Given the description of an element on the screen output the (x, y) to click on. 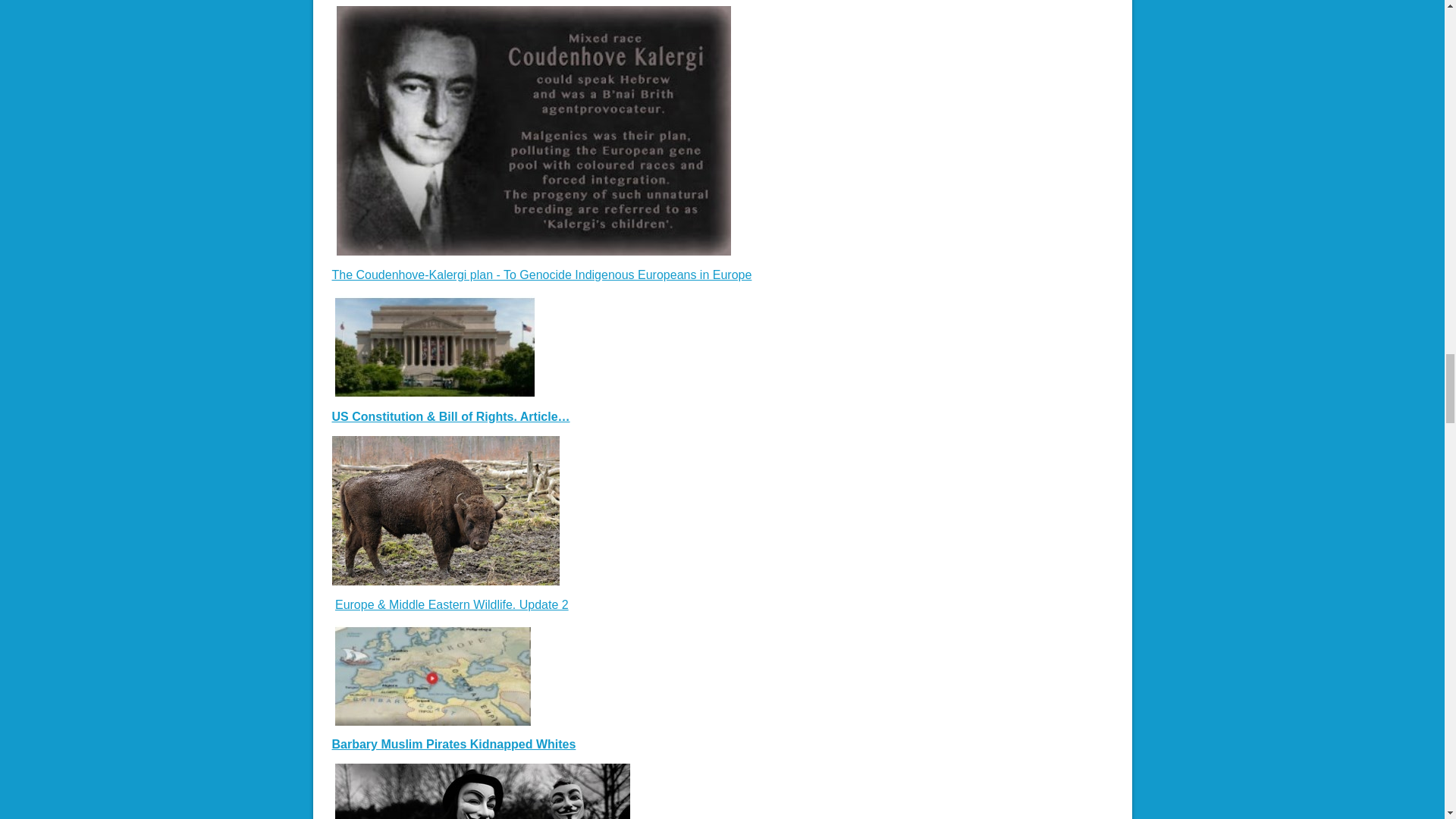
Barbary Muslim Pirates Kidnapped Whites (453, 744)
